Given the description of an element on the screen output the (x, y) to click on. 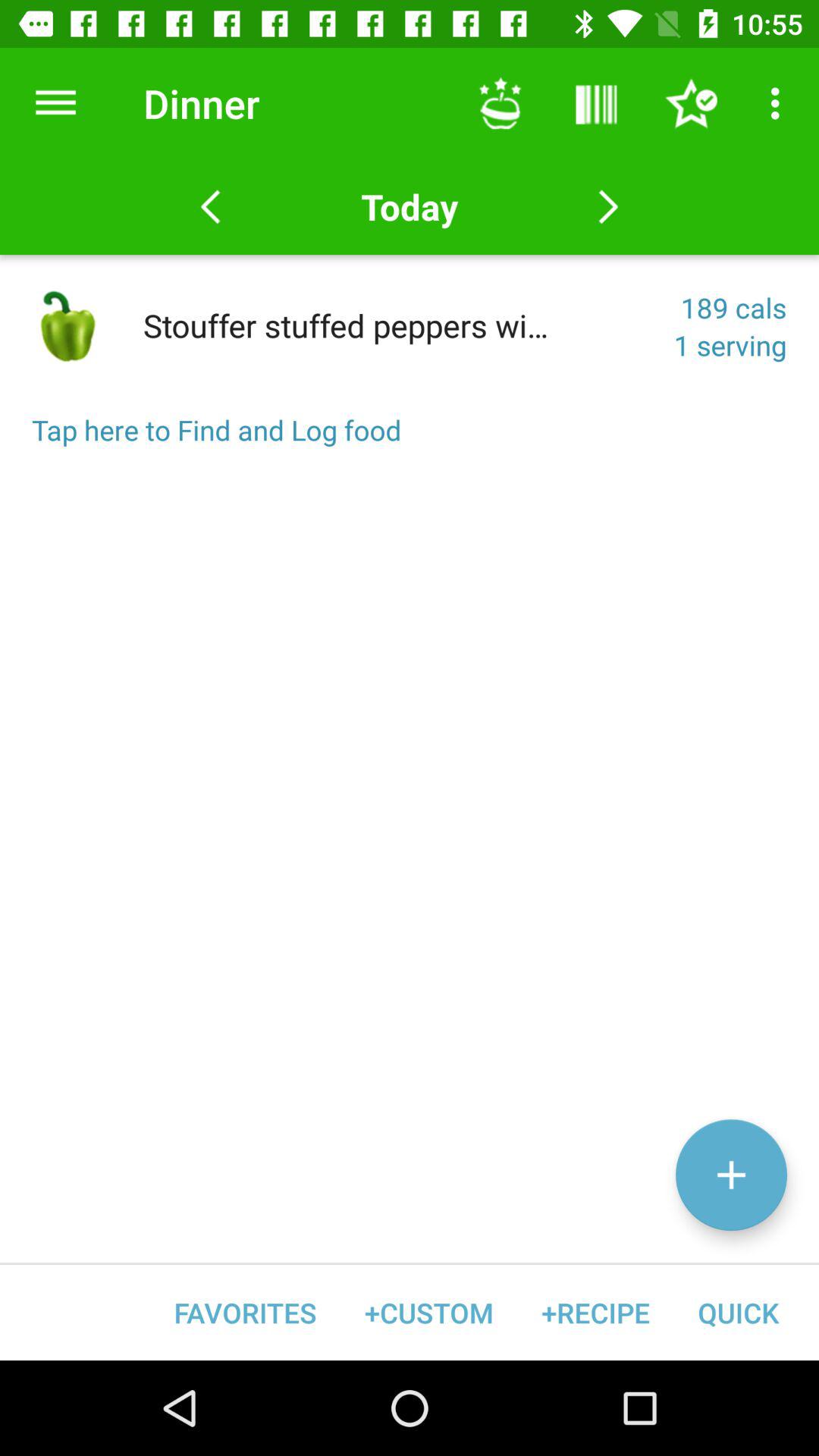
previous day (210, 206)
